Given the description of an element on the screen output the (x, y) to click on. 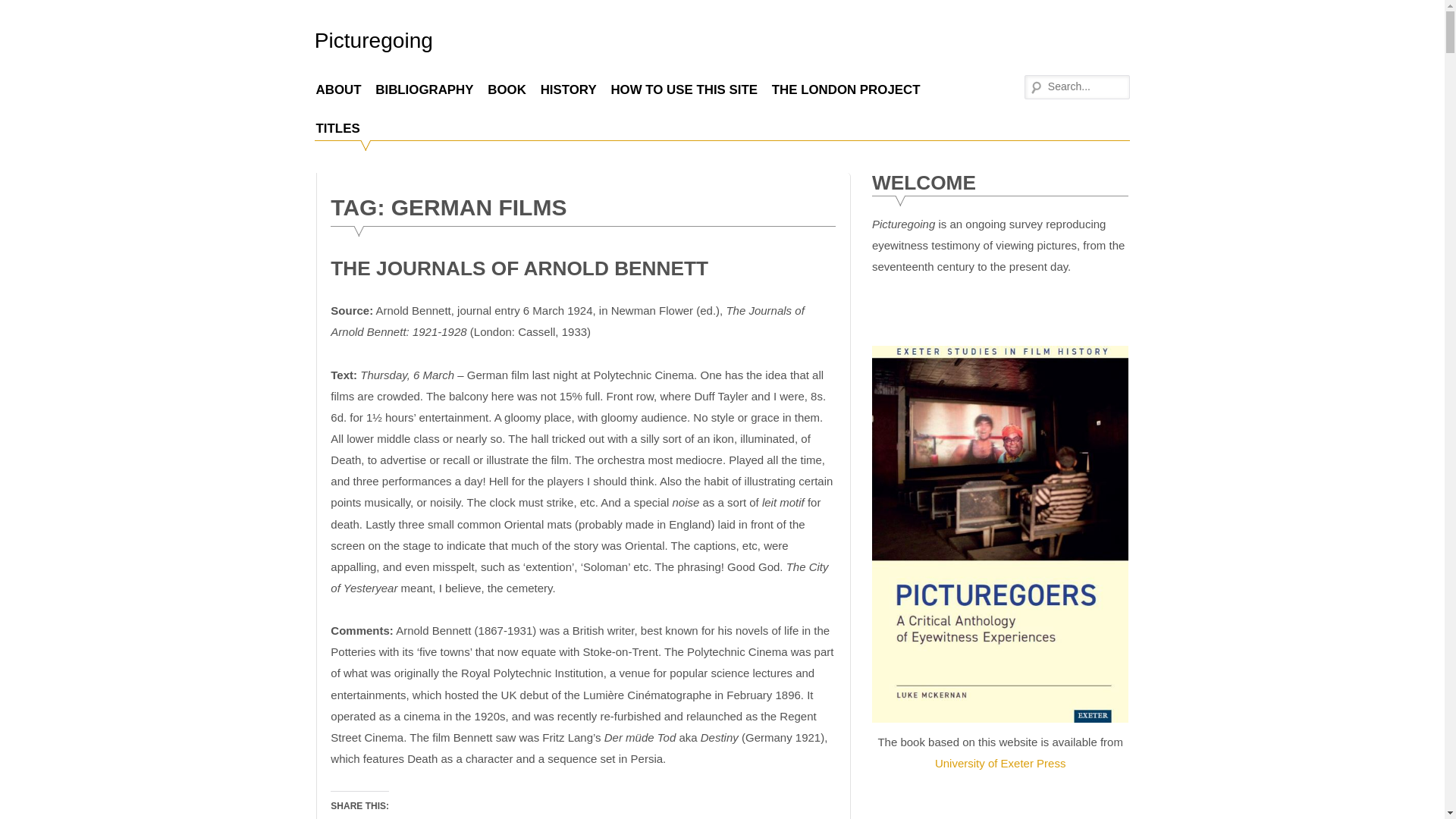
THE LONDON PROJECT (845, 89)
BOOK (506, 89)
HOW TO USE THIS SITE (684, 89)
ABOUT (338, 89)
TITLES (337, 127)
Picturegoing (373, 40)
THE JOURNALS OF ARNOLD BENNETT (518, 268)
Search (22, 11)
HISTORY (568, 89)
BIBLIOGRAPHY (424, 89)
